Given the description of an element on the screen output the (x, y) to click on. 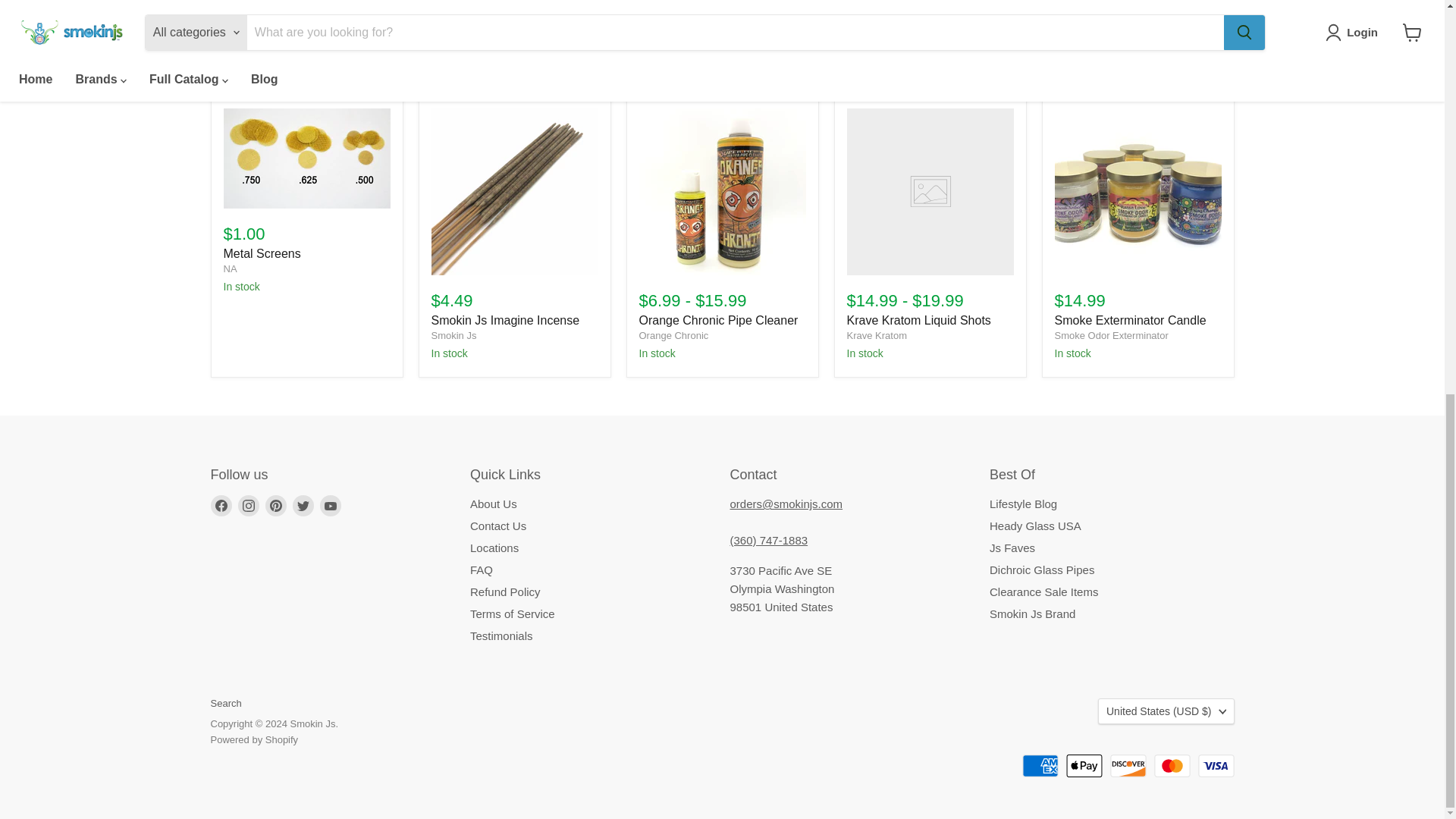
NA (228, 268)
YouTube (330, 505)
Pinterest (275, 505)
Krave Kratom (875, 335)
Orange Chronic (673, 335)
Smokin Js (453, 335)
Smoke Odor Exterminator (1110, 335)
Twitter (303, 505)
Instagram (248, 505)
Facebook (221, 505)
